Given the description of an element on the screen output the (x, y) to click on. 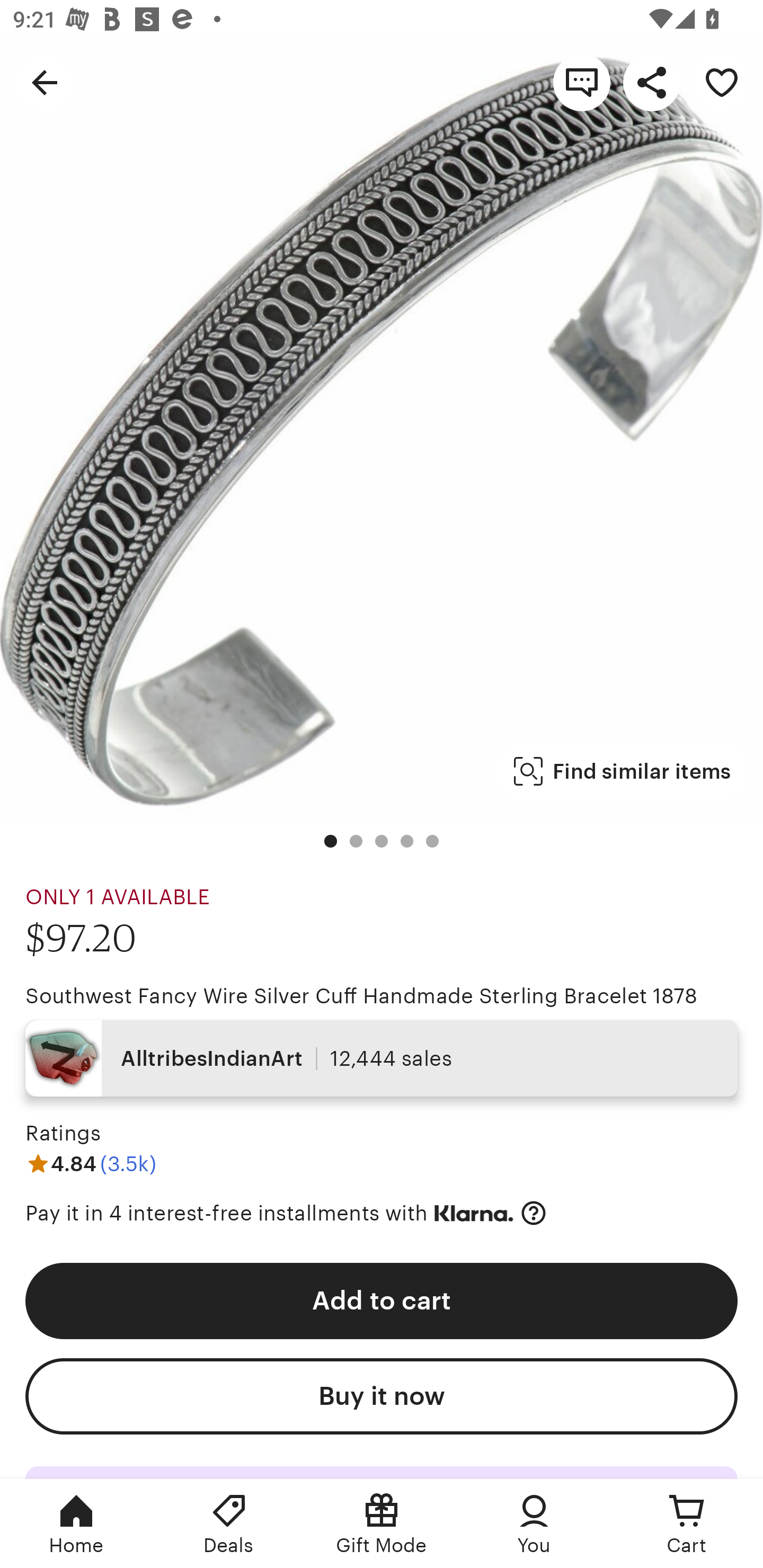
Navigate up (44, 81)
Contact shop (581, 81)
Share (651, 81)
Find similar items (622, 771)
AlltribesIndianArt 12,444 sales (381, 1058)
Ratings (62, 1133)
4.84 (3.5k) (90, 1163)
Add to cart (381, 1300)
Buy it now (381, 1395)
Deals (228, 1523)
Gift Mode (381, 1523)
You (533, 1523)
Cart (686, 1523)
